Given the description of an element on the screen output the (x, y) to click on. 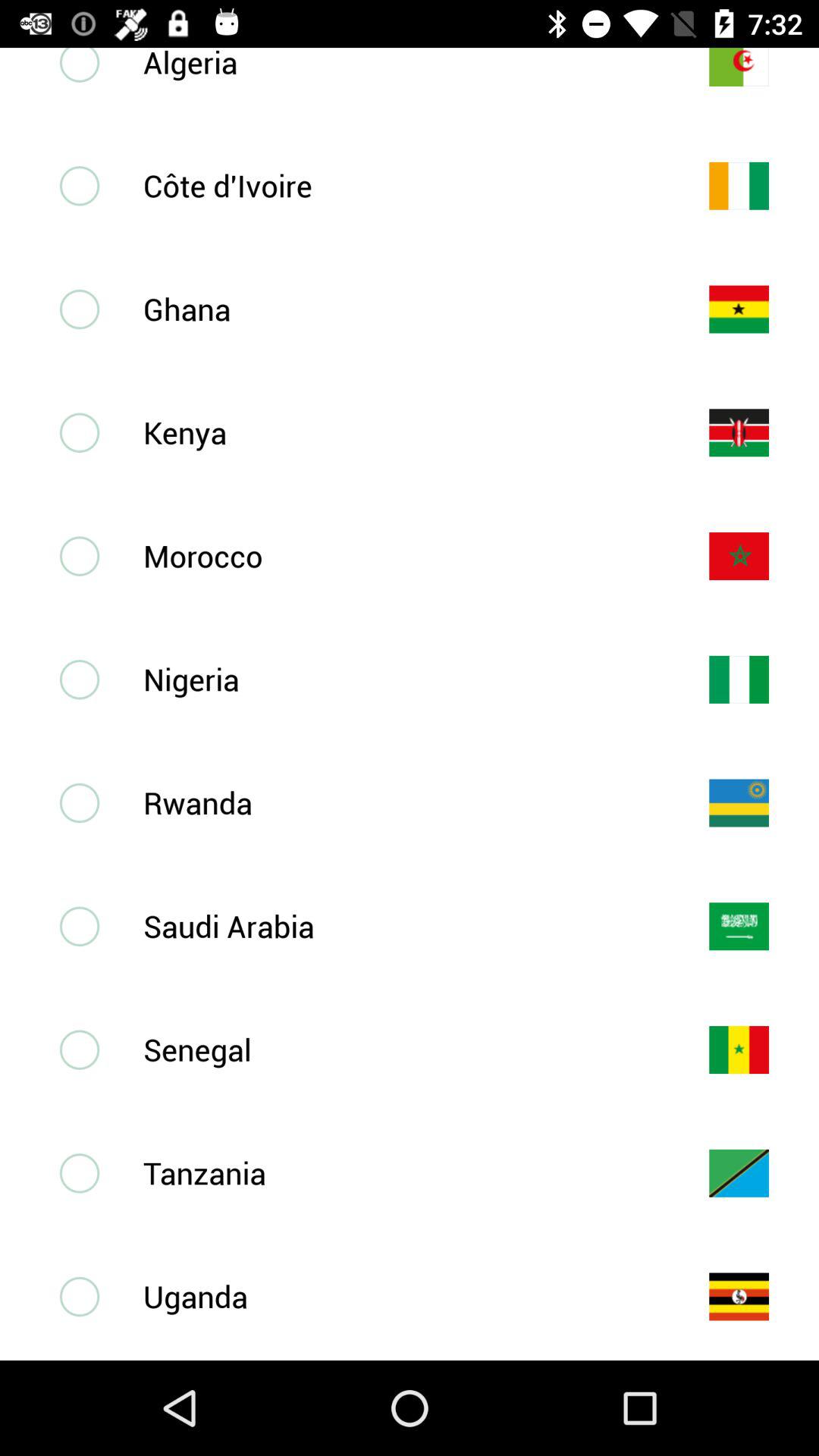
flip to the kenya icon (401, 432)
